Given the description of an element on the screen output the (x, y) to click on. 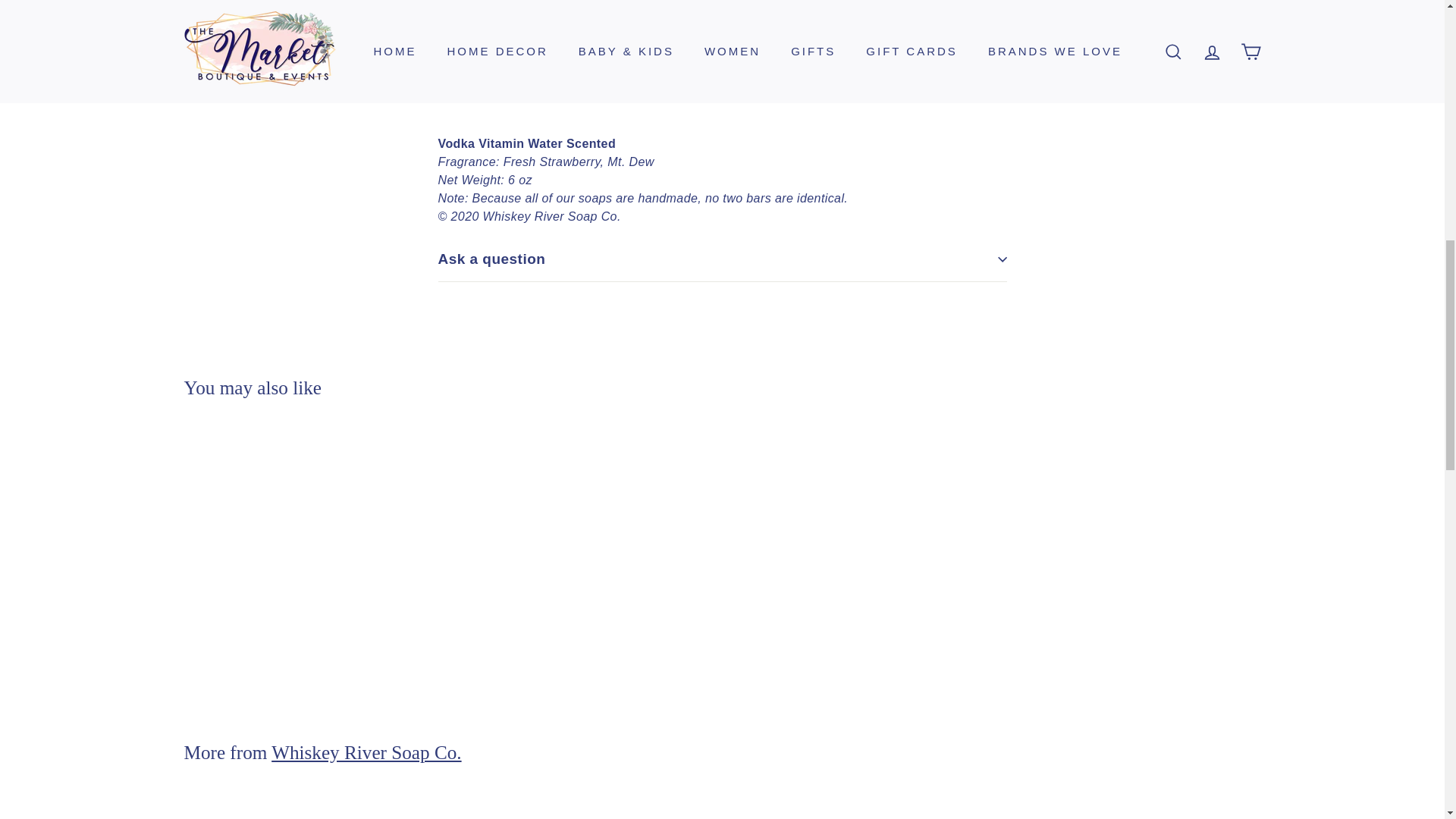
Whiskey River Soap Co. (365, 752)
